Given the description of an element on the screen output the (x, y) to click on. 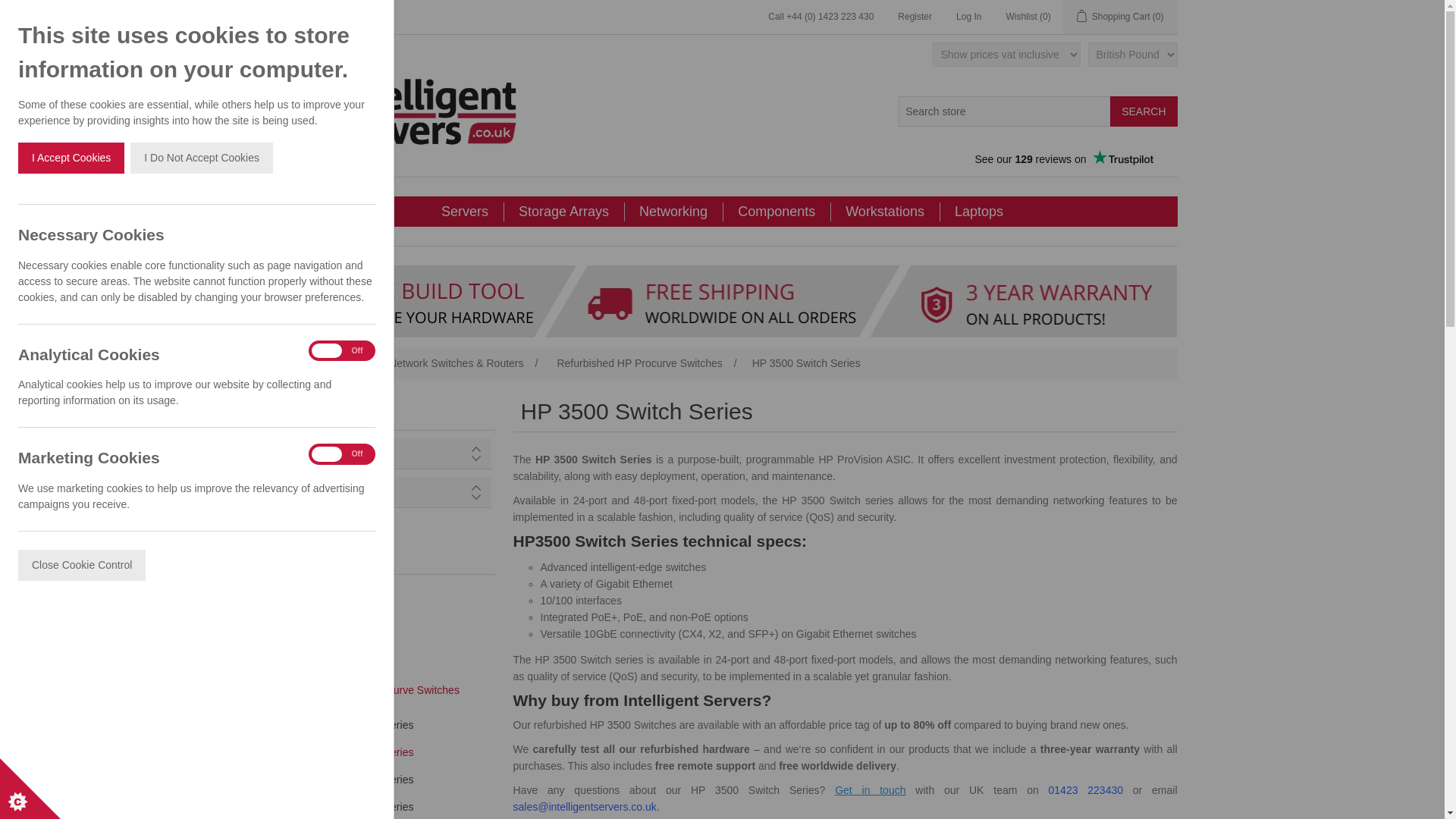
Refurbished HP Procurve Switches (639, 363)
Customer reviews powered by Trustpilot (1062, 158)
I Do Not Accept Cookies (202, 157)
Register (914, 17)
Servers (464, 211)
Close Cookie Control (81, 563)
SEARCH (1142, 110)
Home (293, 363)
I Accept Cookies (70, 157)
